Given the description of an element on the screen output the (x, y) to click on. 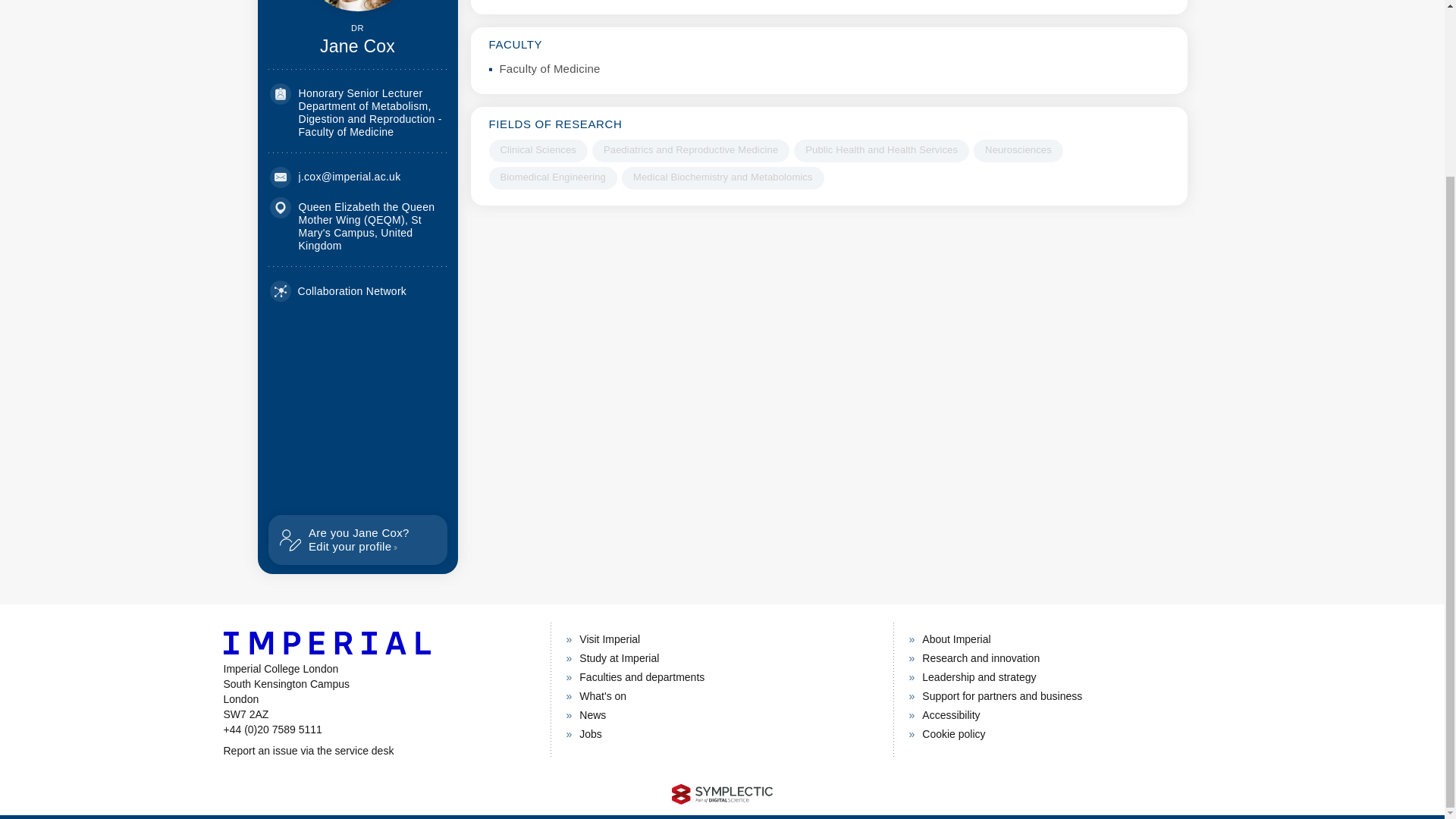
Medical Biochemistry and Metabolomics (722, 178)
Collaboration Network (338, 291)
Paediatrics and Reproductive Medicine (690, 150)
Biomedical Engineering (551, 178)
Symplectic, part of Digital Science (722, 793)
Public Health and Health Services (881, 150)
Symplectic, part of Digital Science (722, 793)
Neurosciences (1018, 150)
Clinical Sciences (536, 150)
Report an issue via the service desk (378, 750)
